Given the description of an element on the screen output the (x, y) to click on. 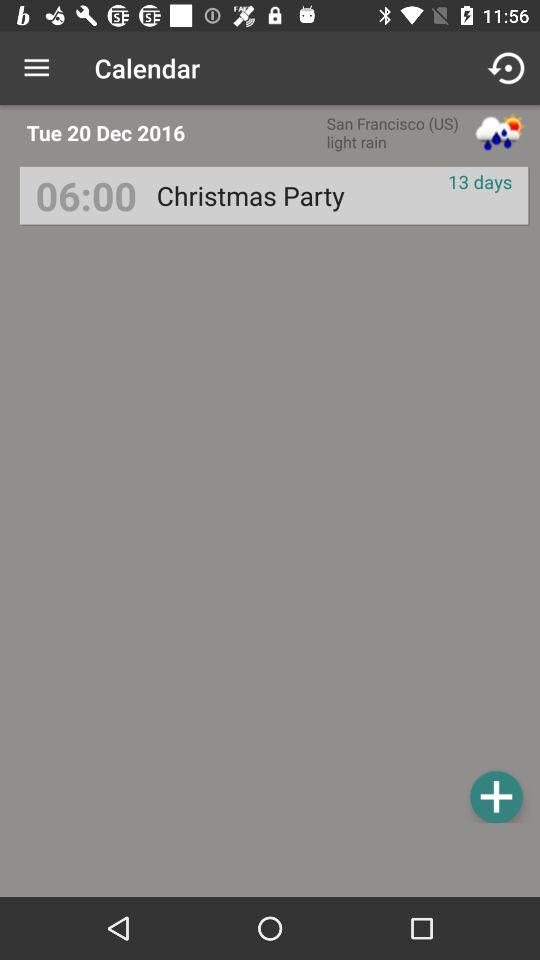
launch item below 13 days item (496, 796)
